Given the description of an element on the screen output the (x, y) to click on. 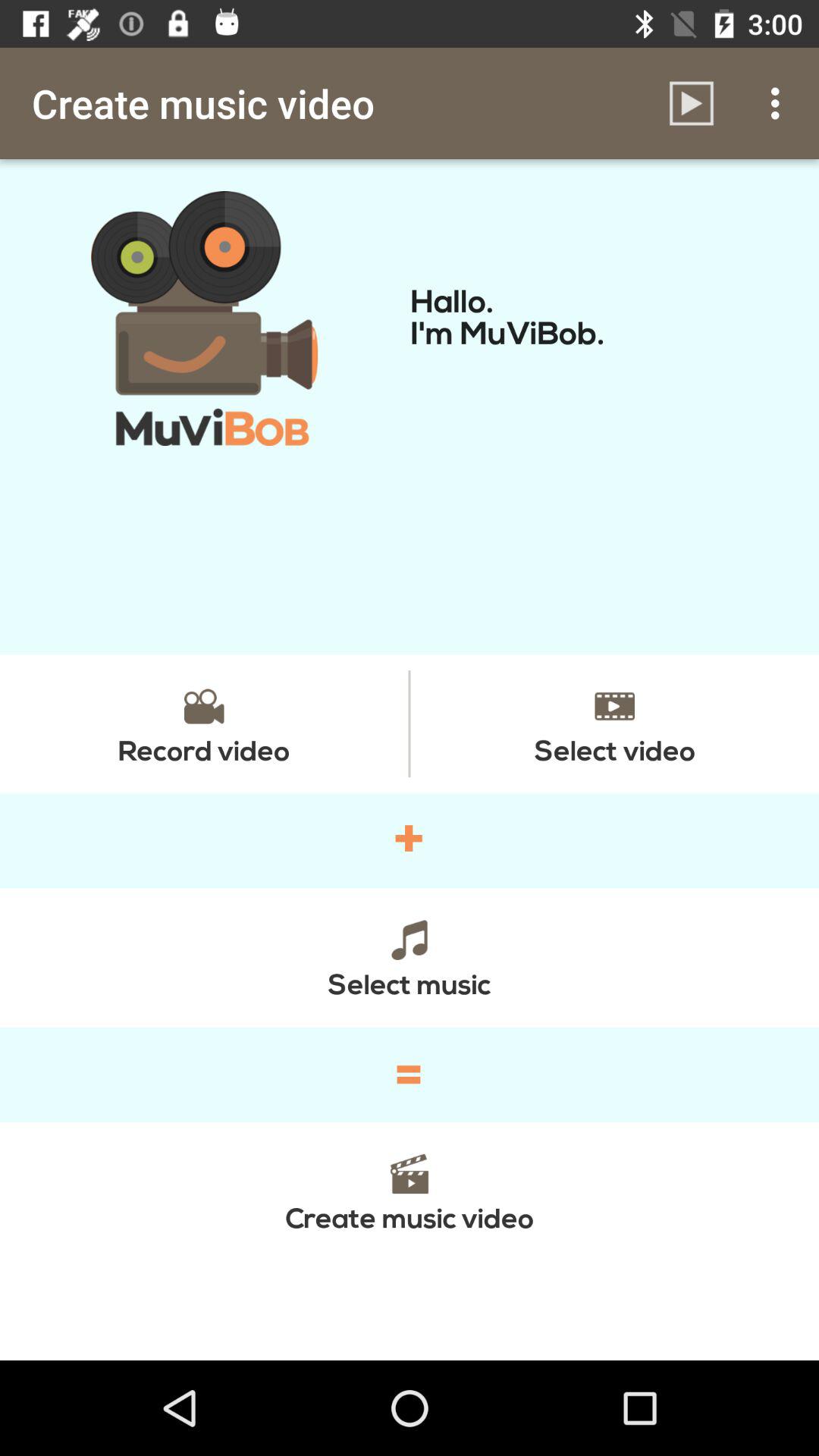
choose the item next to the record video item (614, 723)
